Given the description of an element on the screen output the (x, y) to click on. 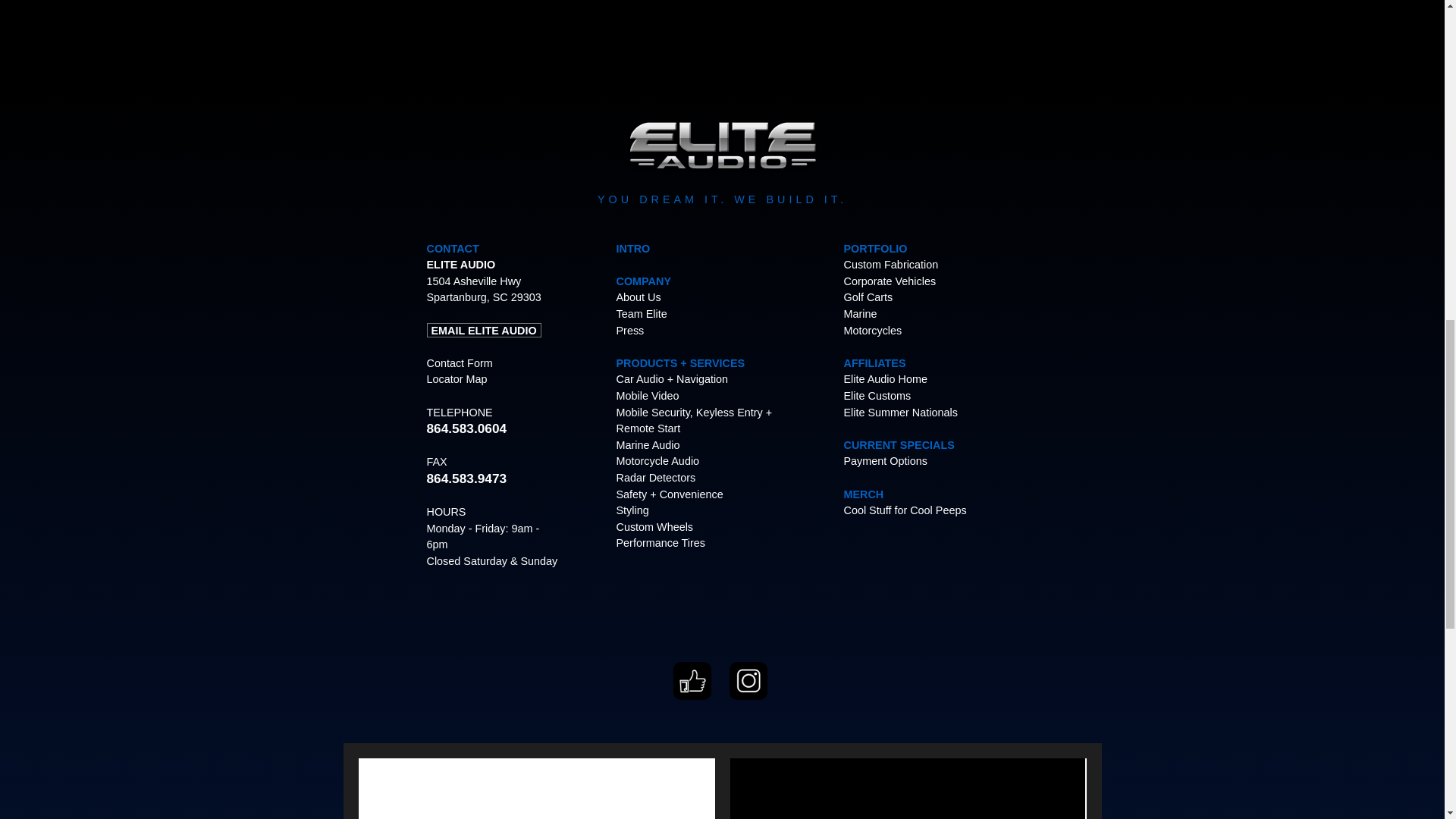
Like Elite Audio on Facebook (692, 695)
Follow Elite Audio on Instagram (748, 695)
